Given the description of an element on the screen output the (x, y) to click on. 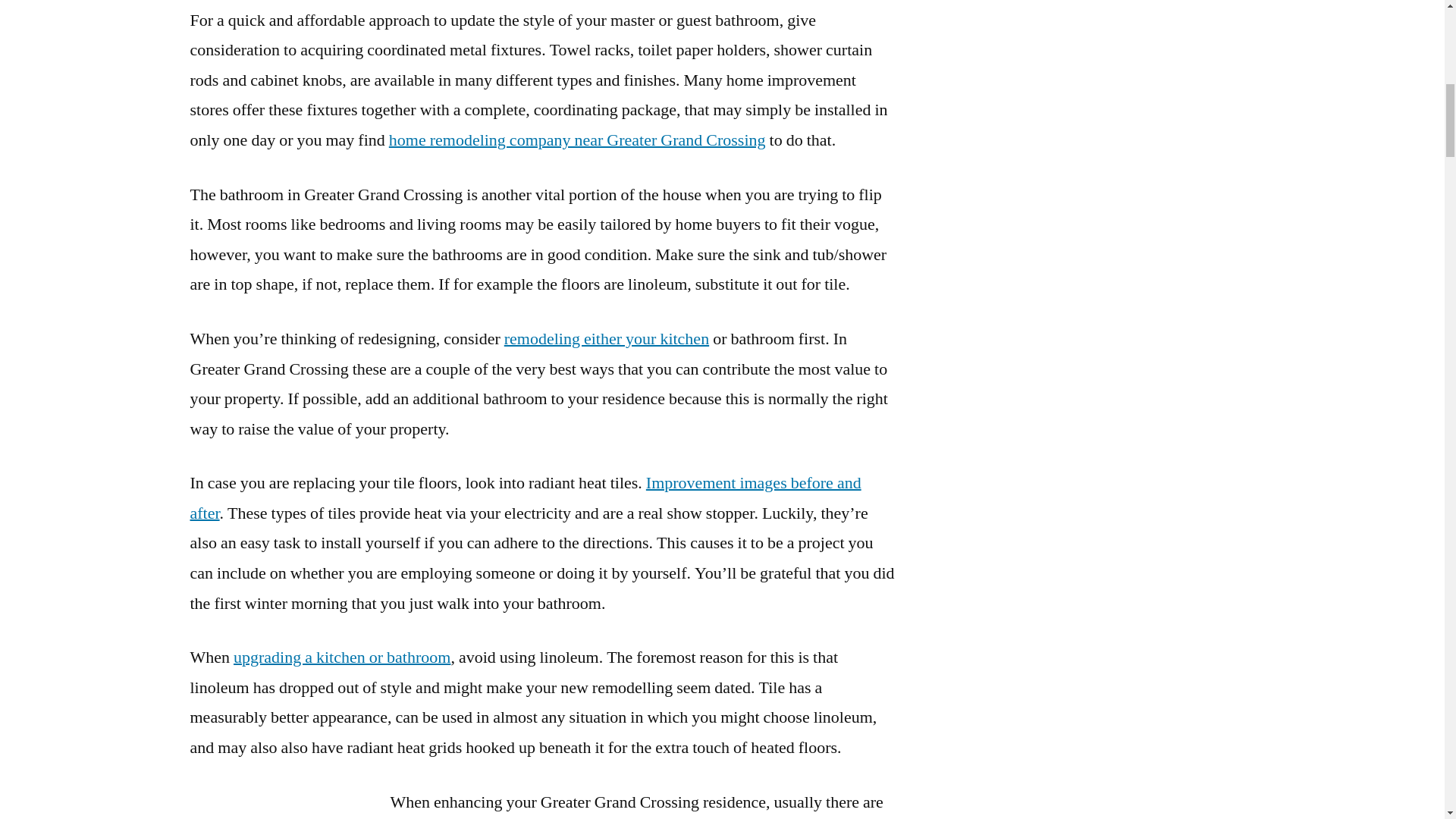
remodeling either your kitchen (606, 338)
Improvement images before and after (524, 498)
home remodeling company near Greater Grand Crossing (576, 139)
upgrading a kitchen or bathroom (340, 657)
